Given the description of an element on the screen output the (x, y) to click on. 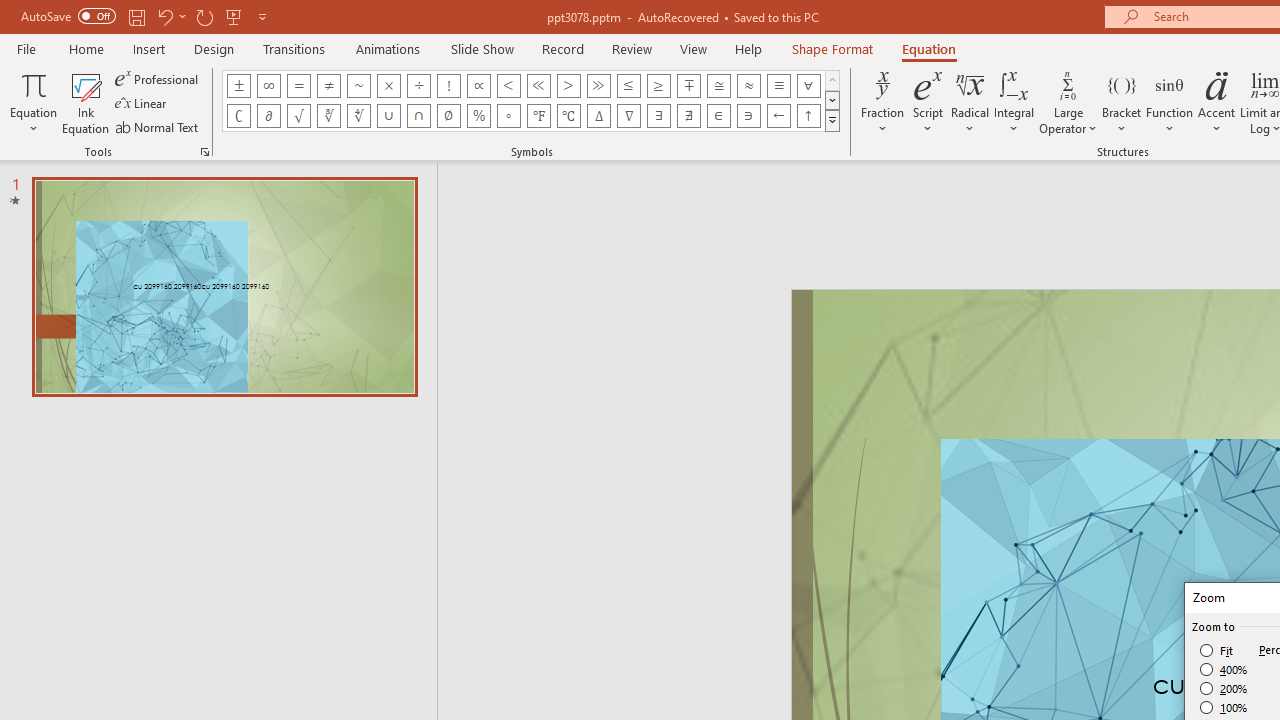
Equation Symbol Less Than (508, 85)
Equation Symbol Contains as Member (748, 115)
Fit (1217, 650)
Equation Symbol Approximately Equal To (718, 85)
400% (1224, 669)
Equation Symbol Identical To (778, 85)
Equation Symbol Almost Equal To (Asymptotic To) (748, 85)
Equation Symbol Complement (238, 115)
Equation Symbol Equal (298, 85)
200% (1224, 688)
Normal Text (158, 126)
